Given the description of an element on the screen output the (x, y) to click on. 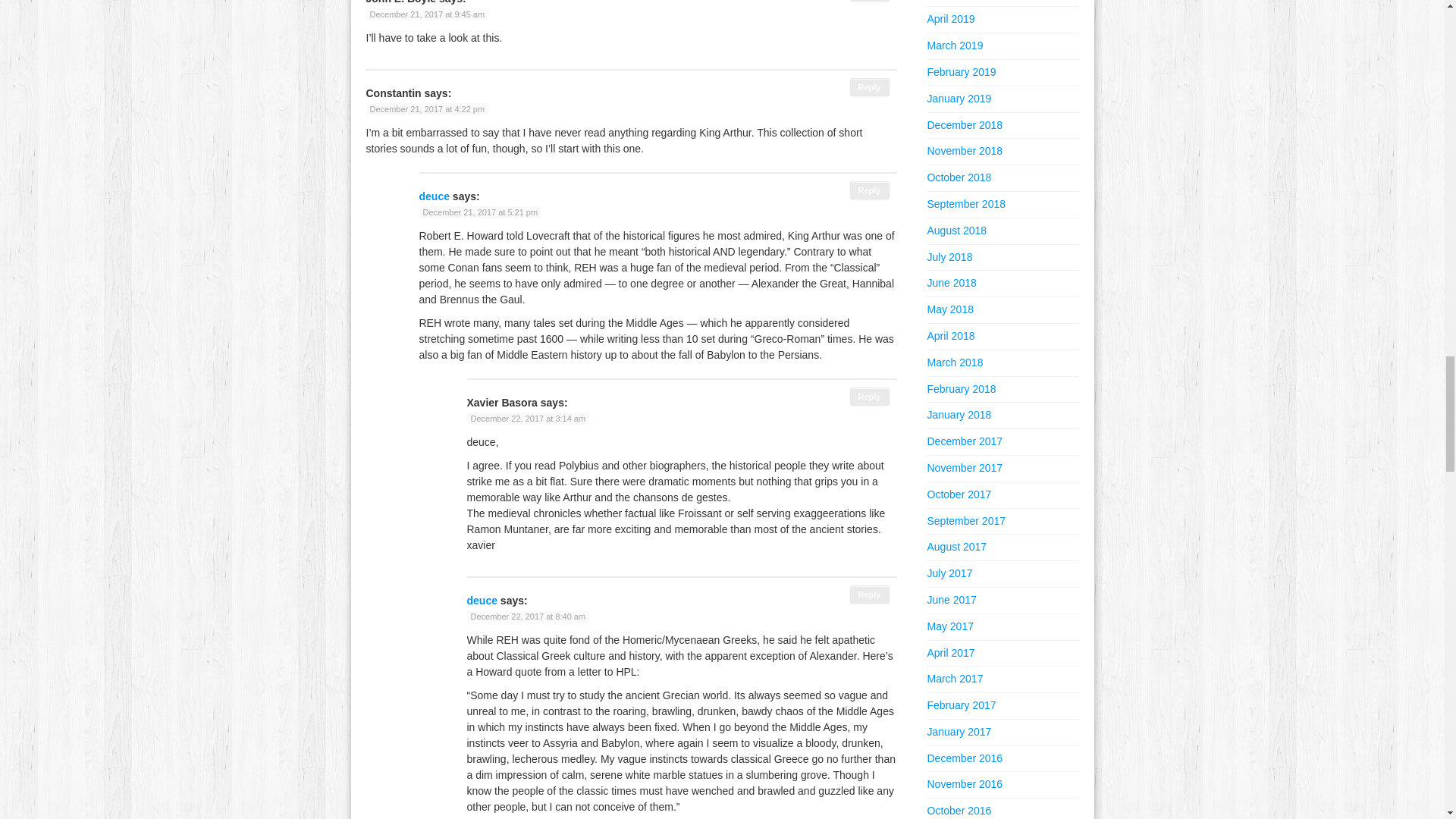
deuce (433, 196)
December 22, 2017 at 8:40 am (528, 616)
Reply (869, 189)
Reply (869, 594)
Reply (869, 86)
Reply (869, 396)
Reply (869, 0)
December 21, 2017 at 4:22 pm (426, 109)
deuce (482, 600)
December 21, 2017 at 5:21 pm (480, 212)
December 22, 2017 at 3:14 am (528, 418)
December 21, 2017 at 9:45 am (426, 14)
